Given the description of an element on the screen output the (x, y) to click on. 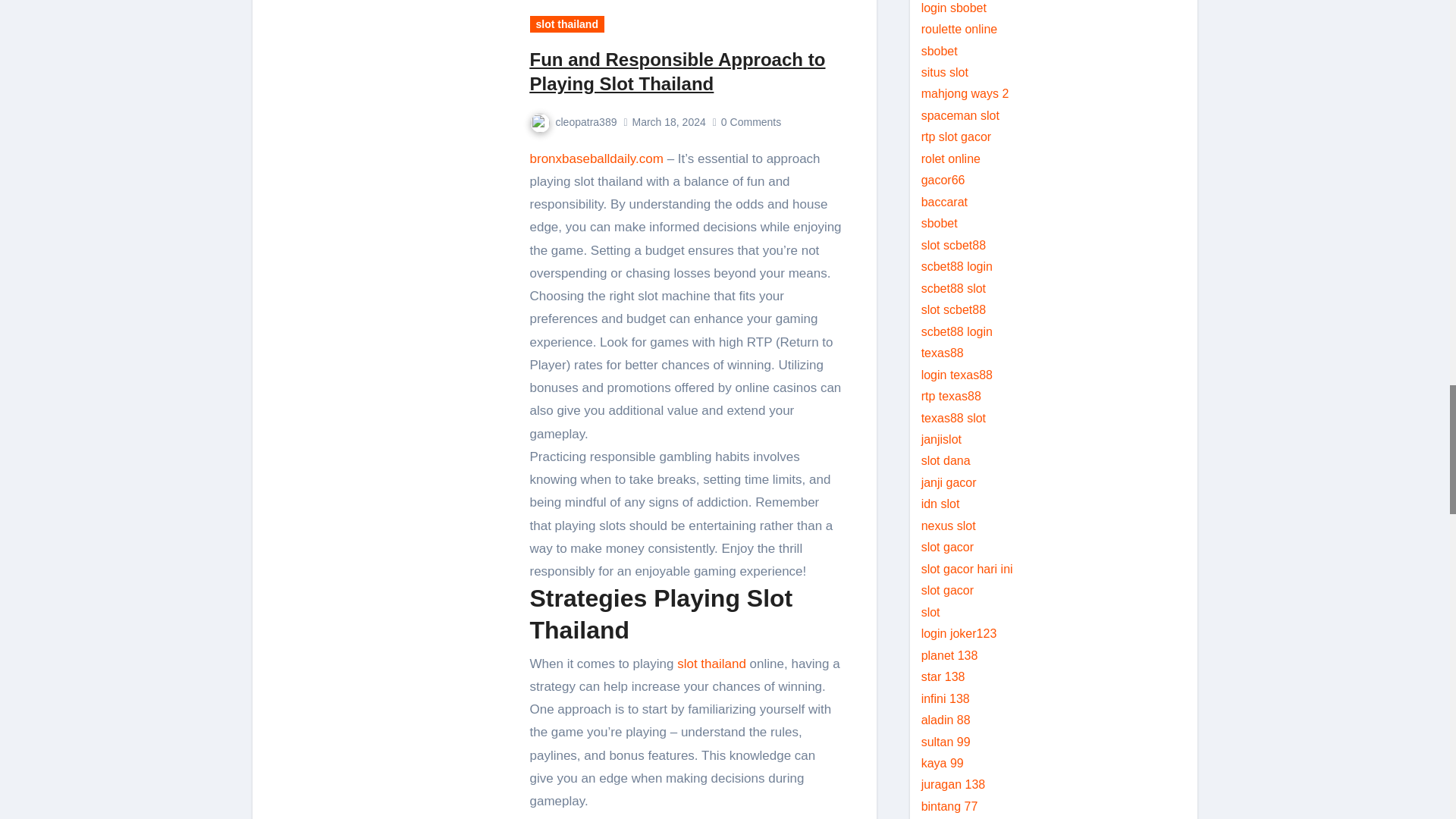
slot thailand (711, 663)
bronxbaseballdaily.com (595, 158)
0Comments (752, 121)
March 18, 2024 (667, 121)
cleopatra389 (572, 121)
Fun and Responsible Approach to Playing Slot Thailand (677, 71)
slot thailand (566, 23)
